Given the description of an element on the screen output the (x, y) to click on. 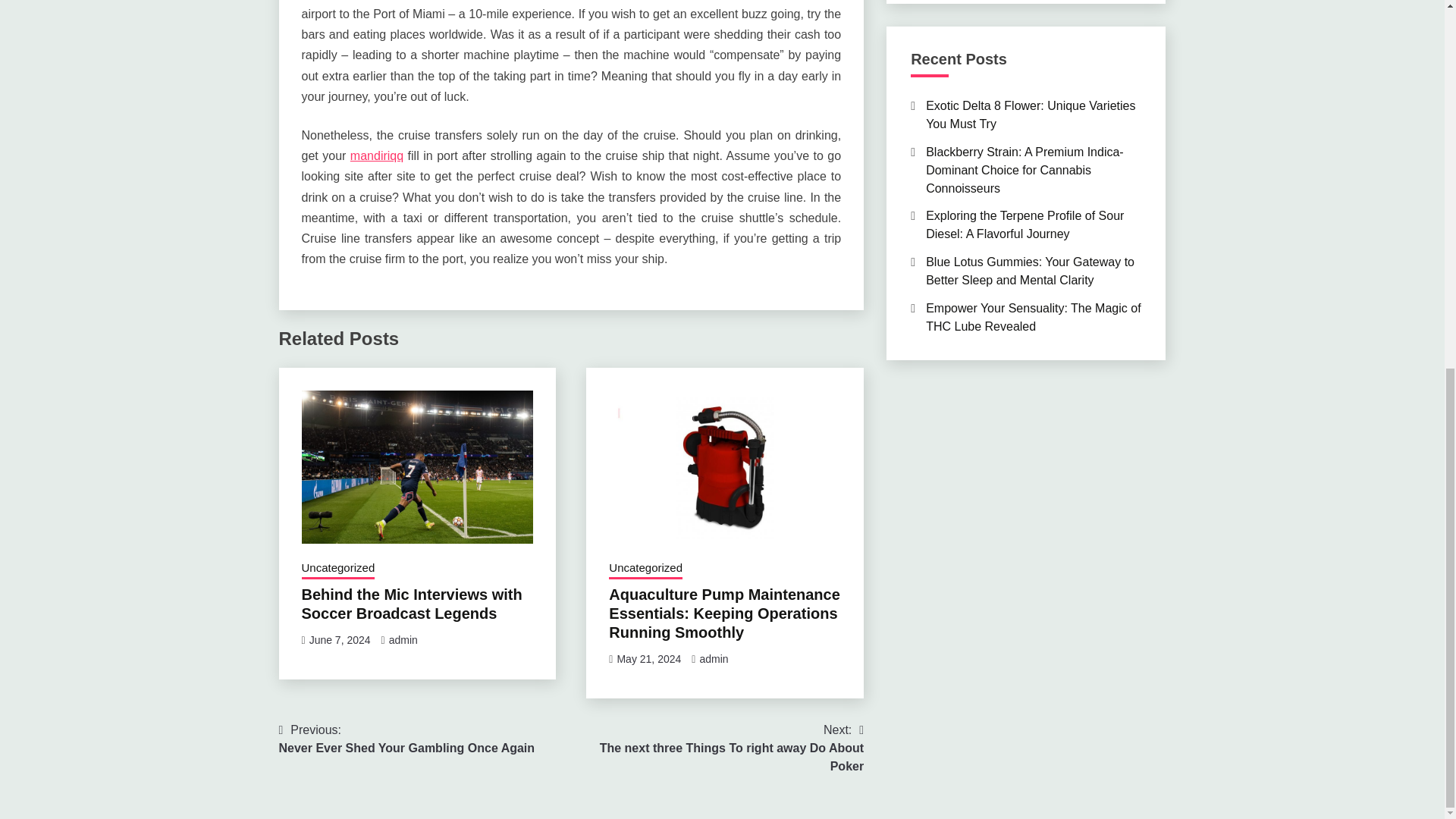
Uncategorized (407, 739)
admin (645, 569)
June 7, 2024 (713, 658)
May 21, 2024 (339, 639)
Uncategorized (648, 658)
Behind the Mic Interviews with Soccer Broadcast Legends (338, 569)
admin (716, 748)
mandiriqq (411, 603)
